Given the description of an element on the screen output the (x, y) to click on. 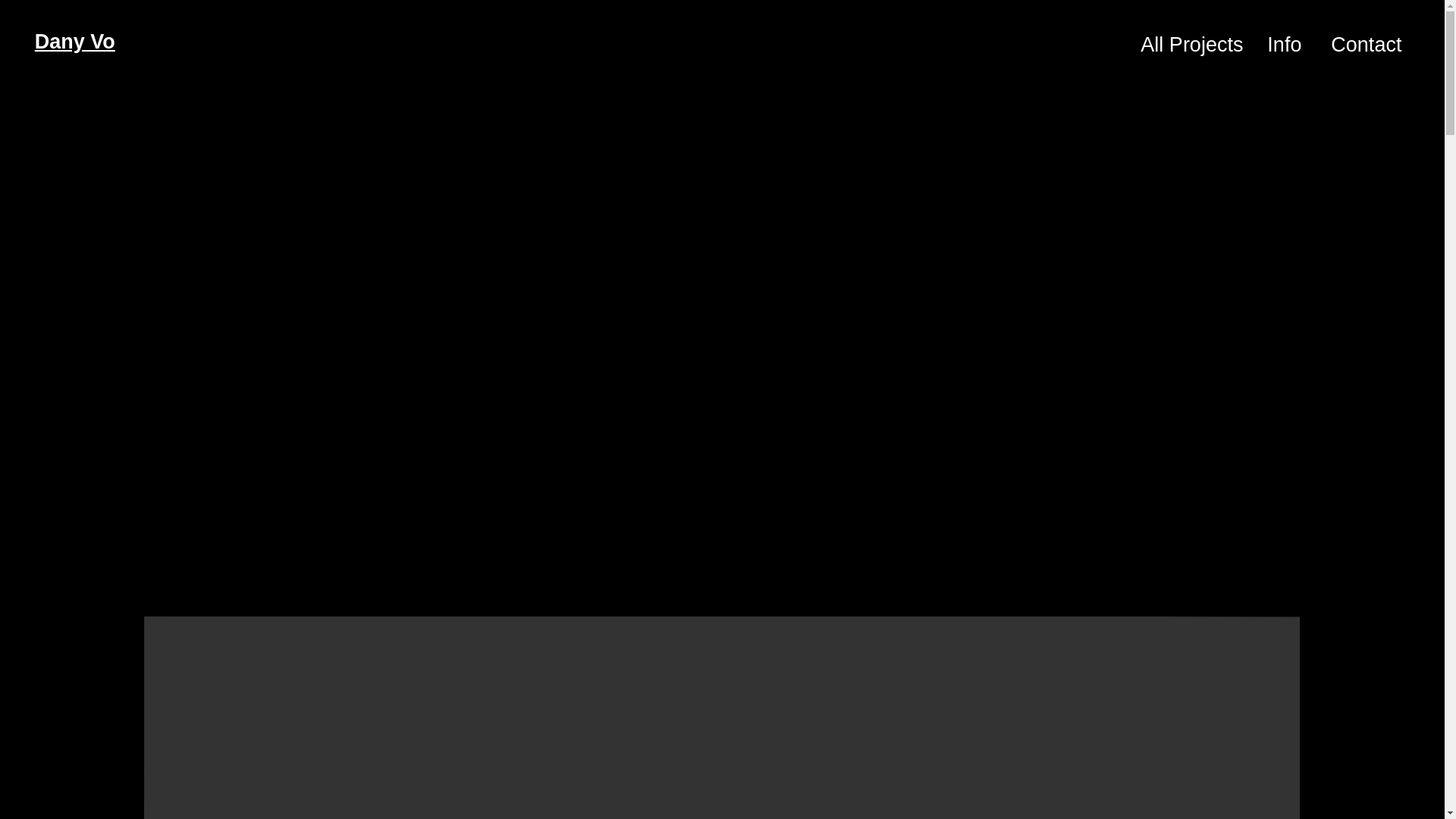
All Projects (1189, 44)
Info (1283, 44)
Contact (1362, 44)
Dany Vo (74, 41)
